Given the description of an element on the screen output the (x, y) to click on. 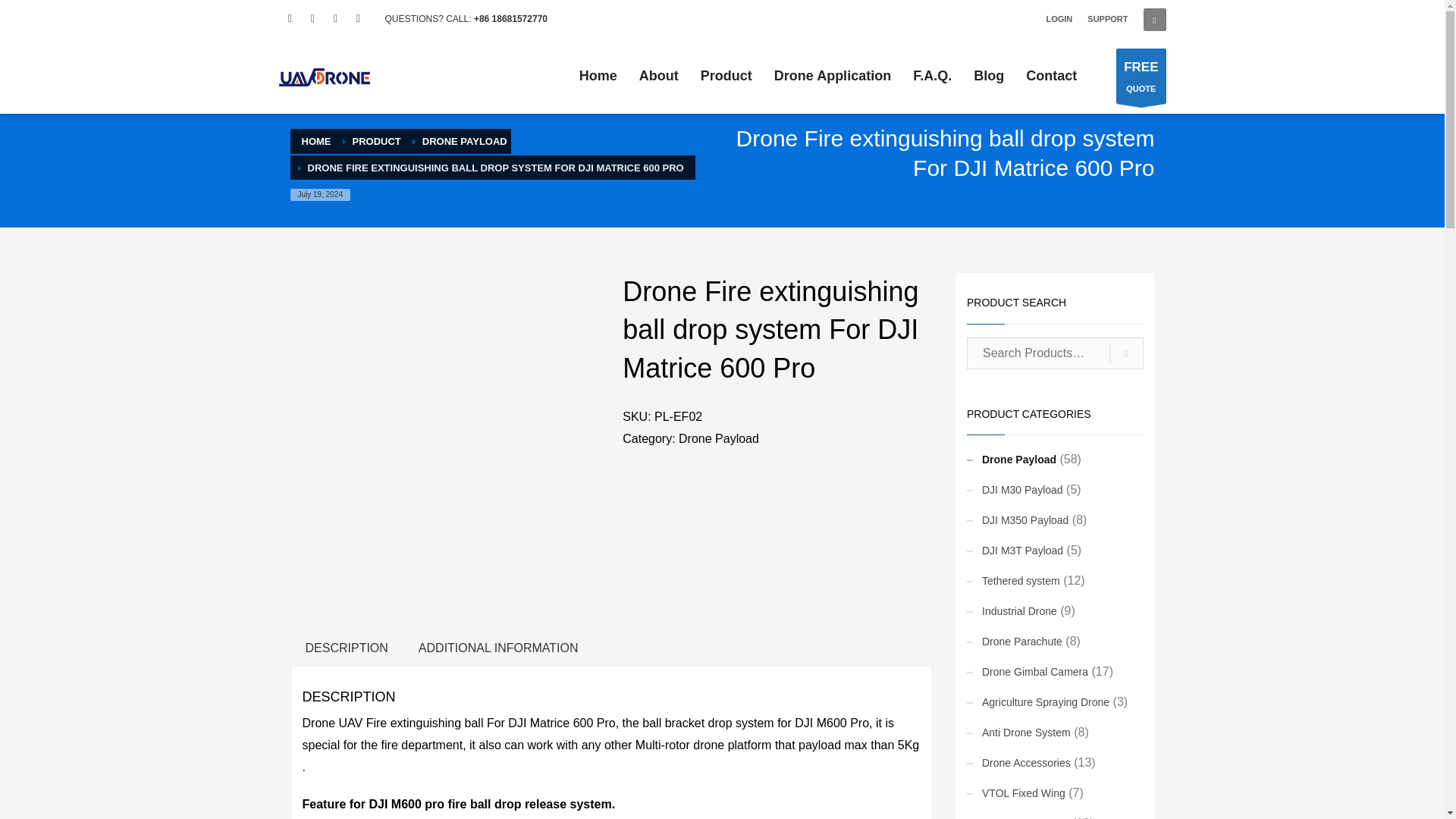
Youtube (335, 18)
F.A.Q. (932, 75)
Facebook (290, 18)
Home (598, 75)
About (658, 75)
SUPPORT (1141, 76)
LOGIN (1106, 18)
Blog (1058, 18)
Search (988, 75)
Linkedin (1125, 27)
Contact (358, 18)
Drone Application (1051, 75)
Product (832, 75)
Pinterest (726, 75)
